Given the description of an element on the screen output the (x, y) to click on. 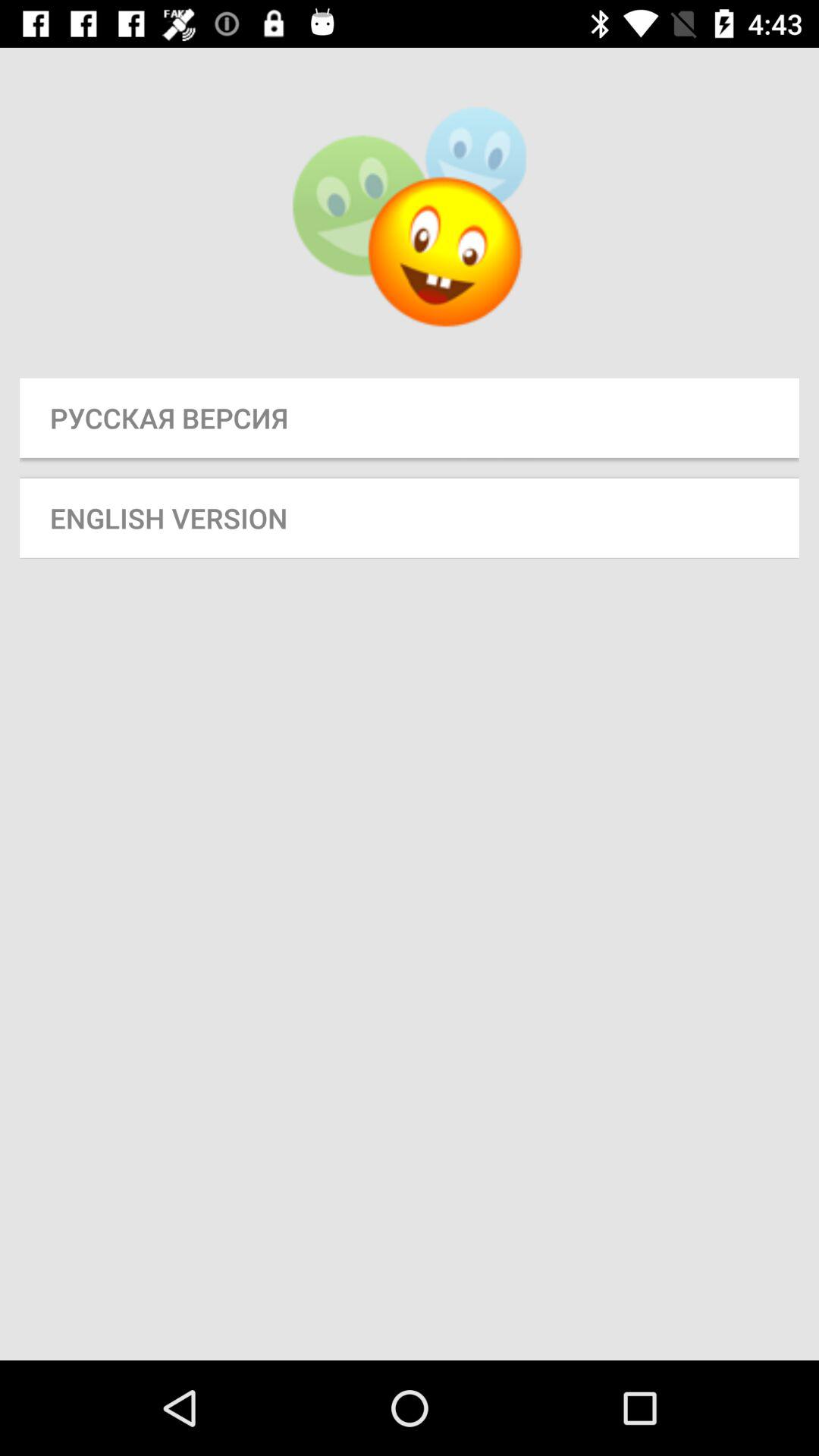
open the icon above english version (409, 417)
